Given the description of an element on the screen output the (x, y) to click on. 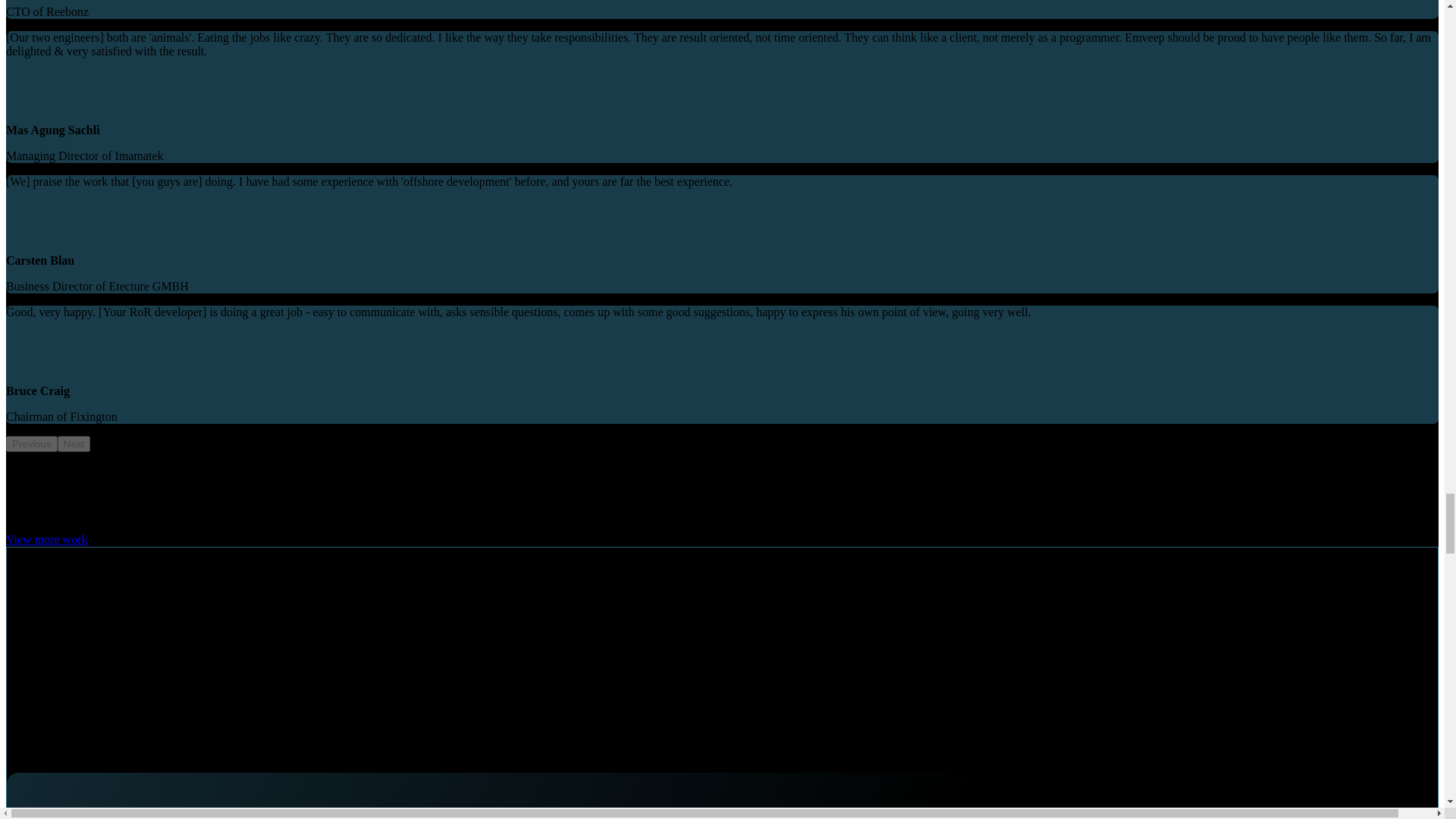
Next (74, 443)
View more work (46, 539)
Previous (31, 443)
